Given the description of an element on the screen output the (x, y) to click on. 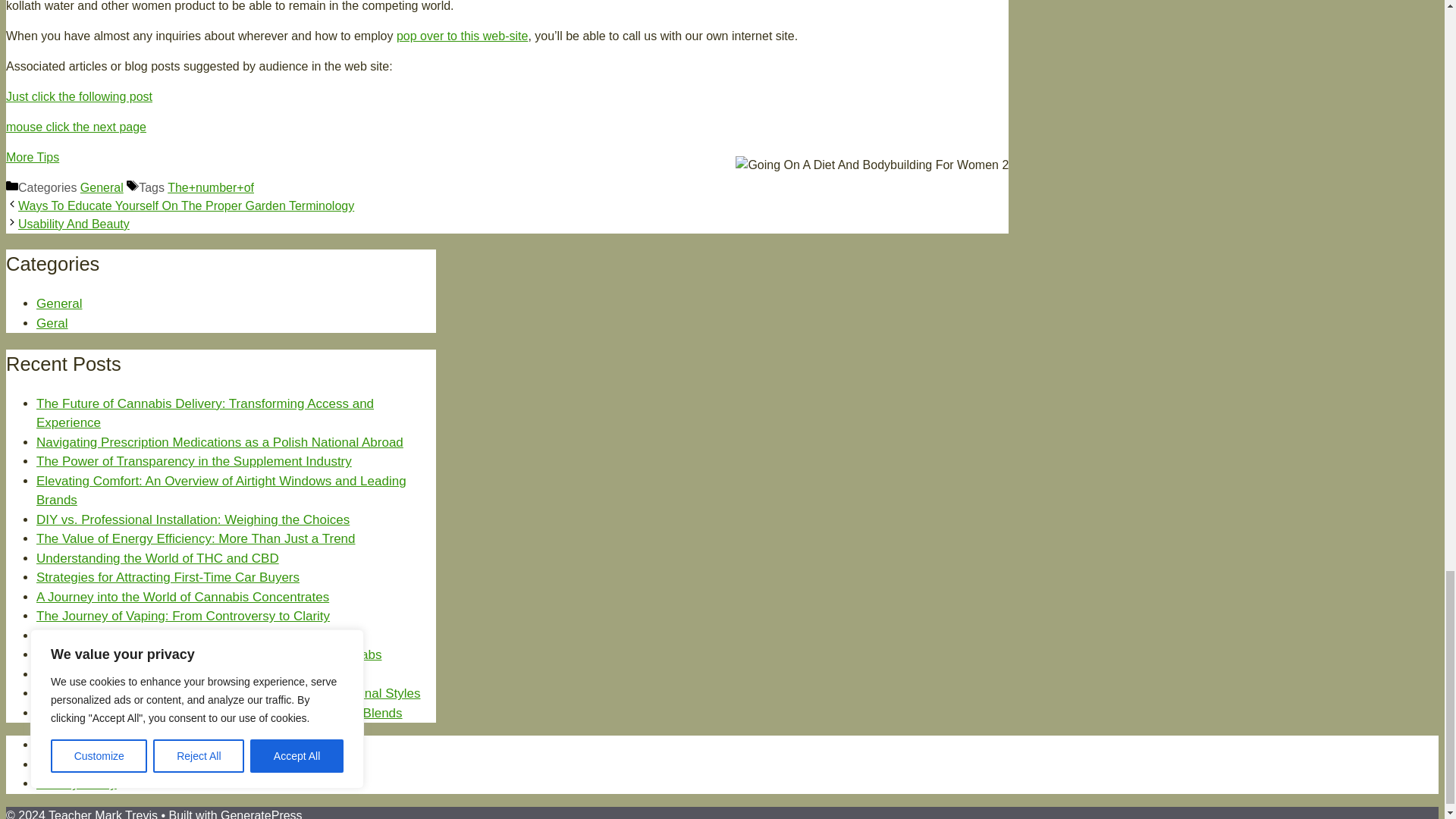
The Power of Transparency in the Supplement Industry (194, 461)
mouse click the next page (76, 126)
Geral (52, 323)
General (101, 187)
Just click the following post (78, 96)
pop over to this web-site (461, 35)
The Value of Energy Efficiency: More Than Just a Trend (195, 538)
